Given the description of an element on the screen output the (x, y) to click on. 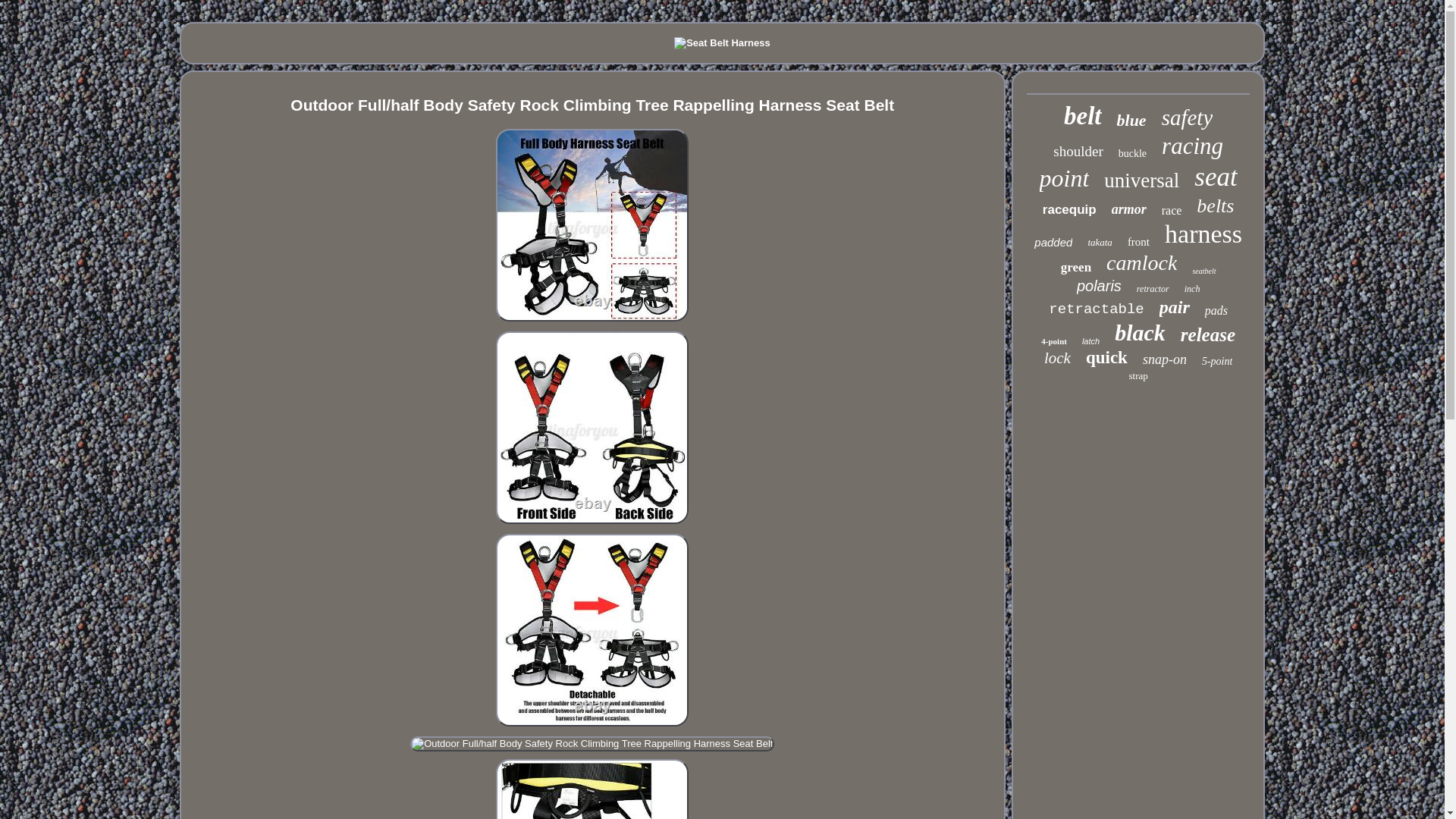
harness (1202, 234)
inch (1192, 288)
buckle (1132, 153)
padded (1052, 241)
racequip (1069, 209)
pads (1216, 310)
camlock (1141, 262)
seat (1214, 177)
pair (1173, 307)
safety (1186, 117)
